Given the description of an element on the screen output the (x, y) to click on. 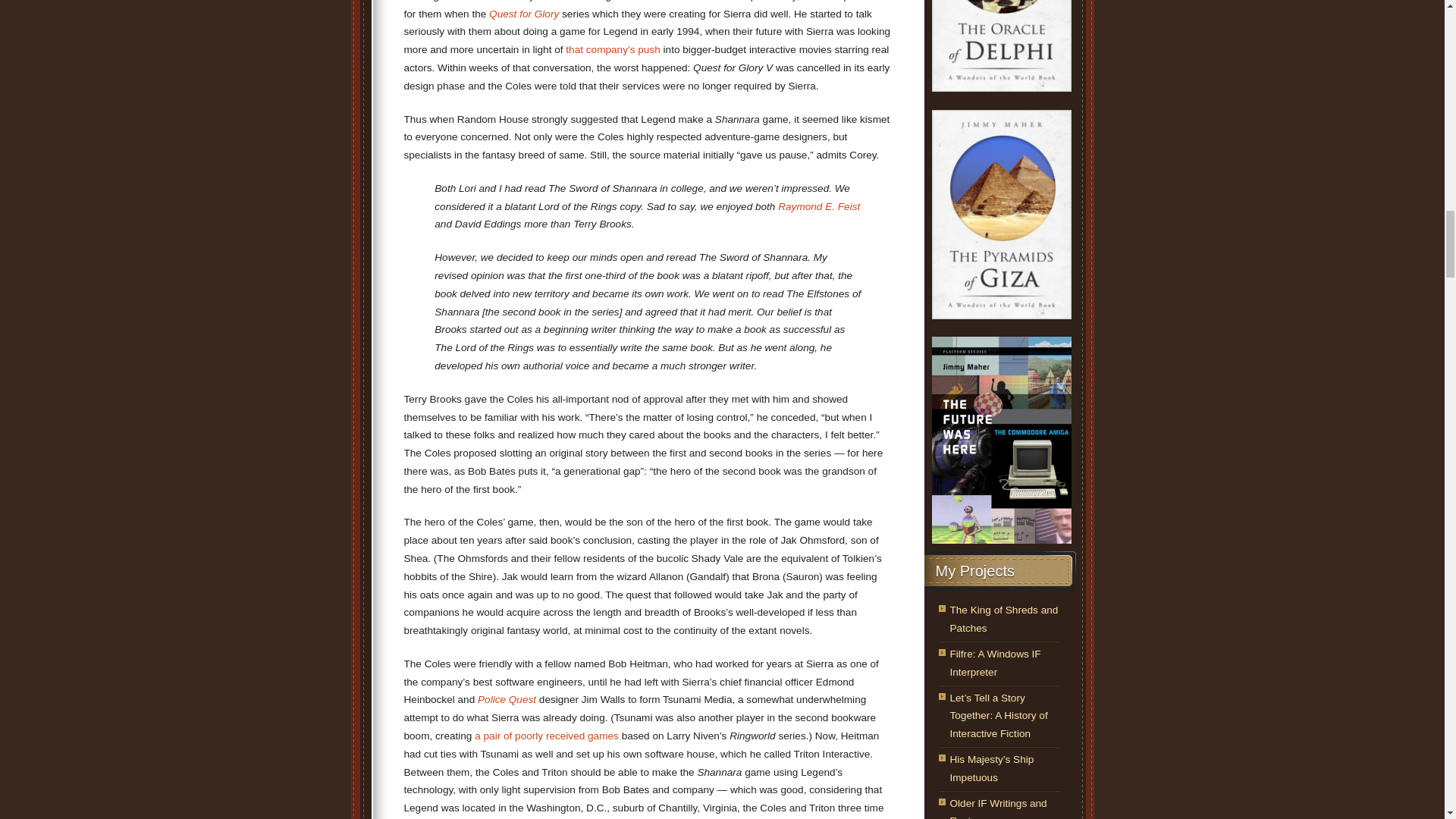
Quest for Glory (524, 13)
Police Quest (506, 699)
Raymond E. Feist (818, 206)
a pair of poorly received games (546, 736)
